Given the description of an element on the screen output the (x, y) to click on. 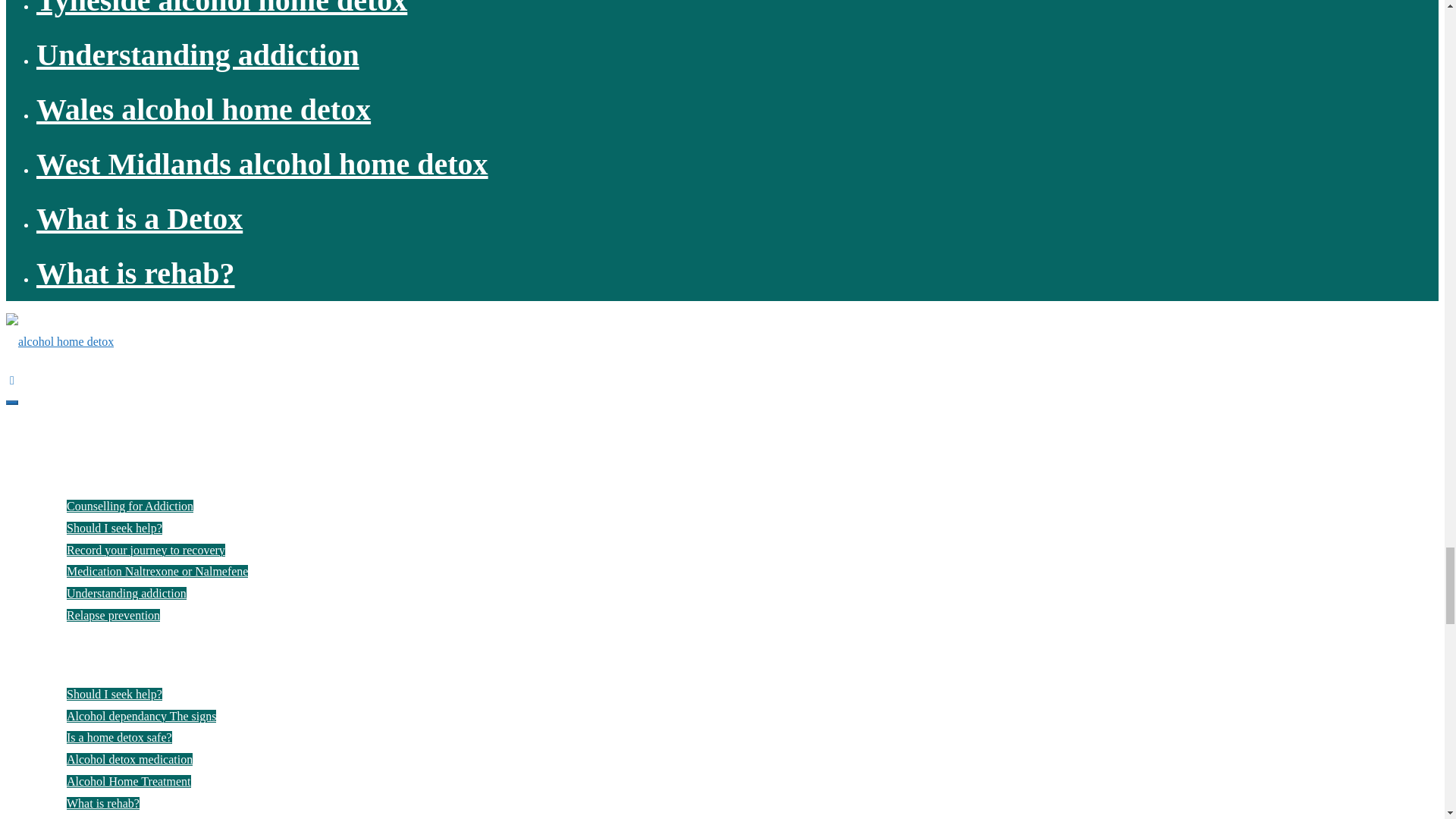
Detox from Alcohol at Home (59, 341)
Read more (11, 379)
